Given the description of an element on the screen output the (x, y) to click on. 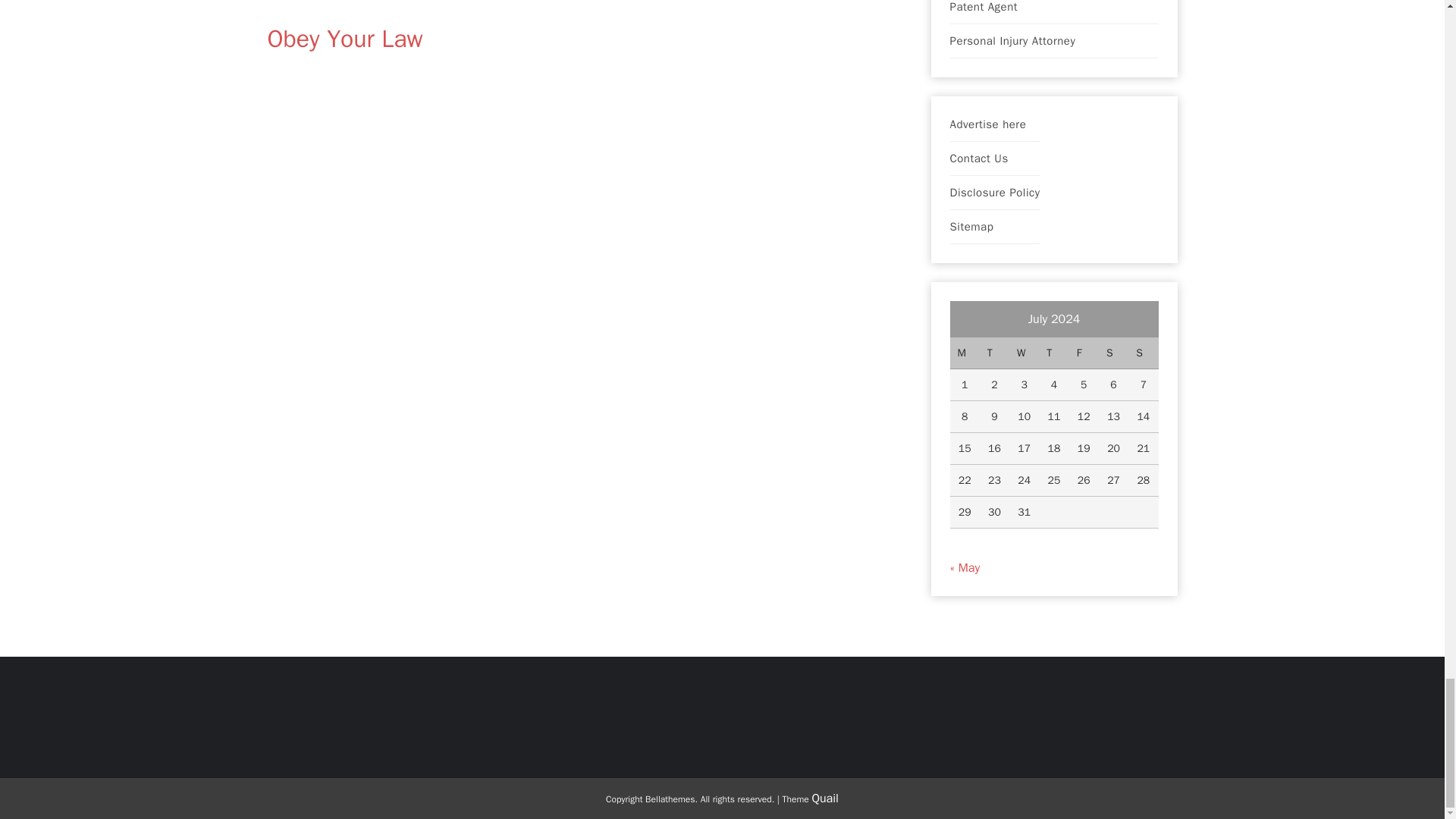
Thursday (1053, 353)
Saturday (1113, 353)
Sunday (1142, 353)
Friday (1083, 353)
Wednesday (1024, 353)
Tuesday (994, 353)
Monday (963, 353)
